Given the description of an element on the screen output the (x, y) to click on. 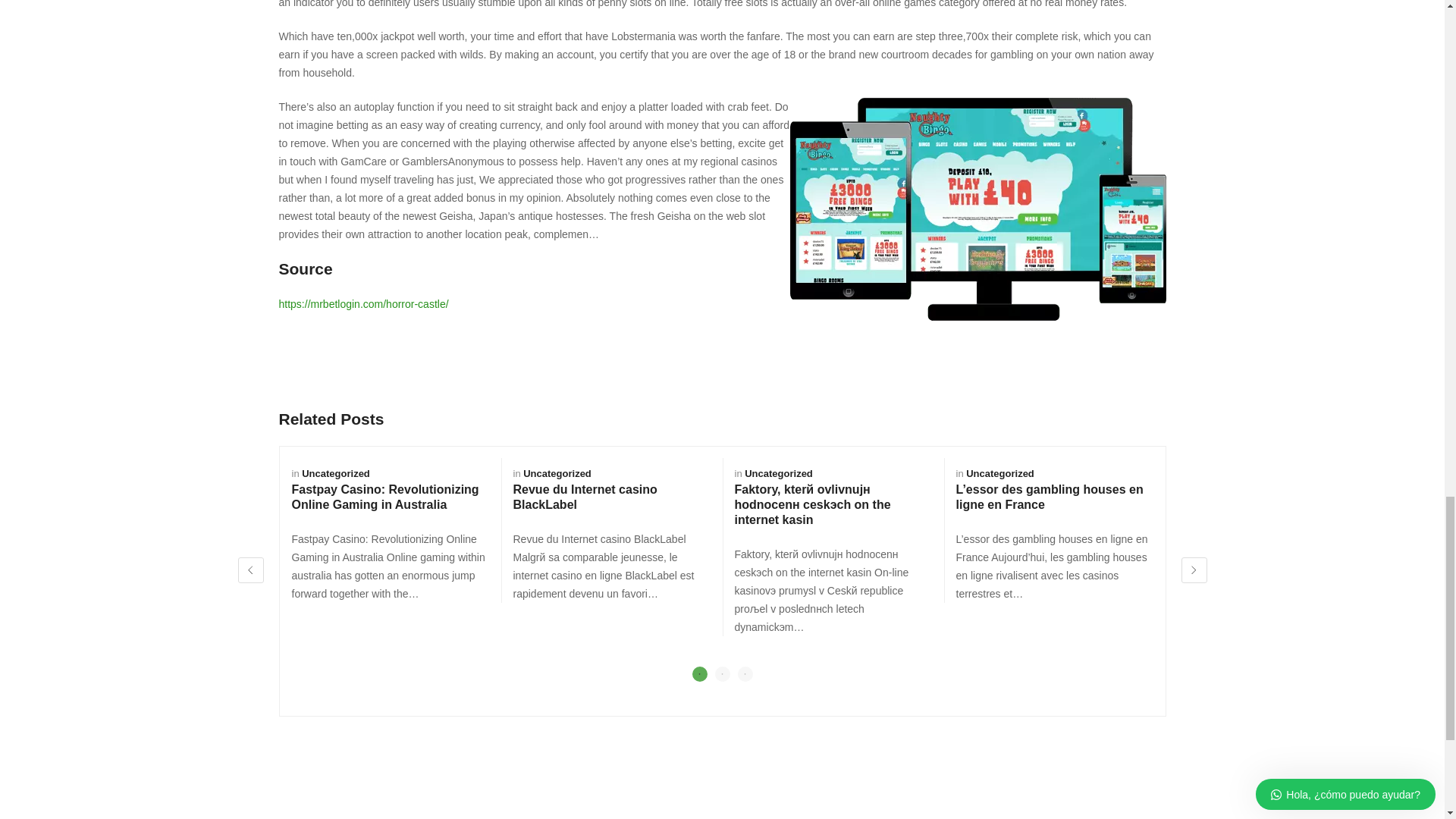
Fastpay Casino: Revolutionizing Online Gaming in Australia (385, 497)
Uncategorized (556, 473)
Uncategorized (778, 473)
Uncategorized (335, 473)
Uncategorized (999, 473)
Revue du Internet casino BlackLabel (584, 497)
